Given the description of an element on the screen output the (x, y) to click on. 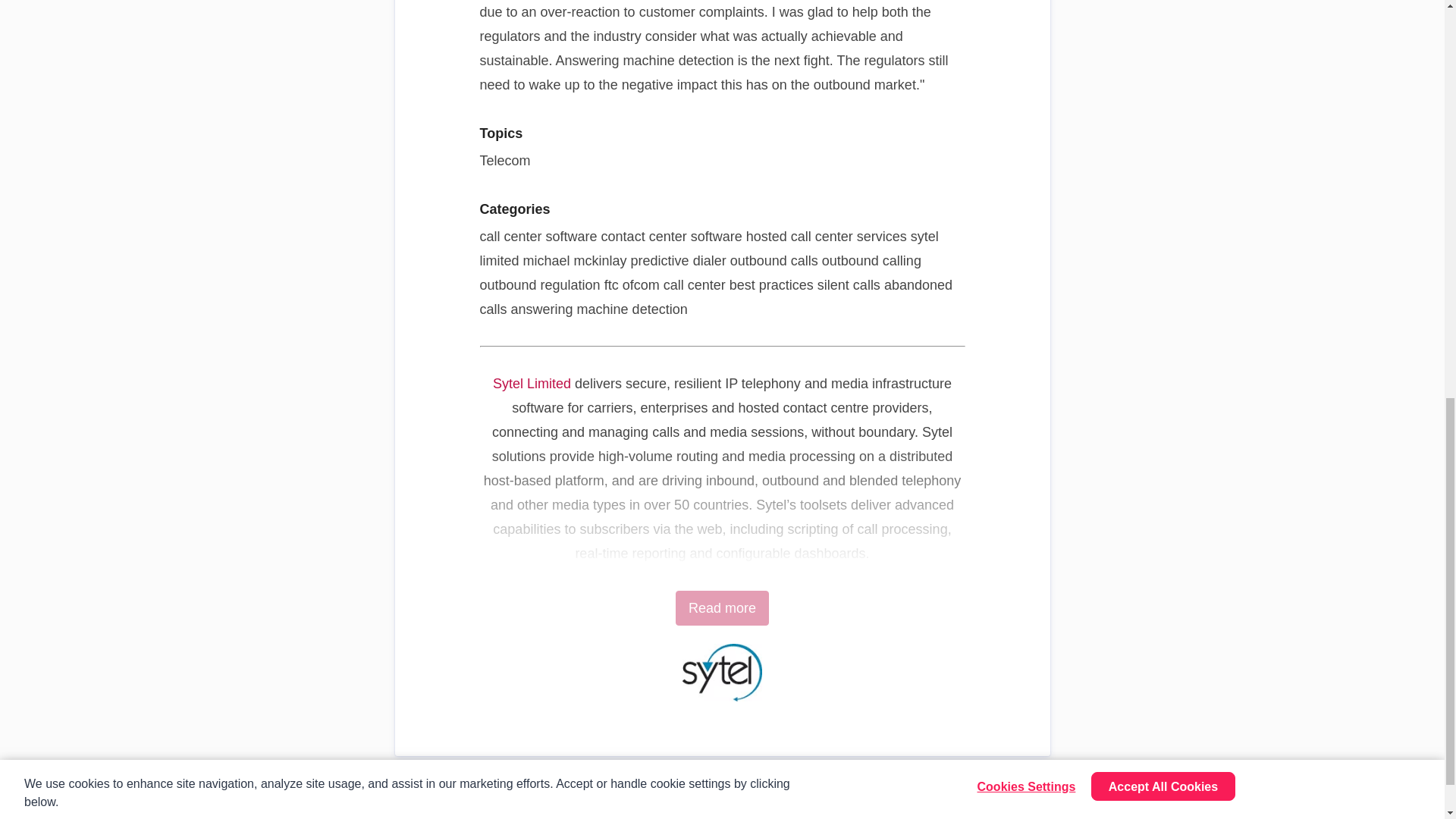
Sytel Limited (531, 383)
Read more (721, 607)
Sytel Limited (531, 383)
